Given the description of an element on the screen output the (x, y) to click on. 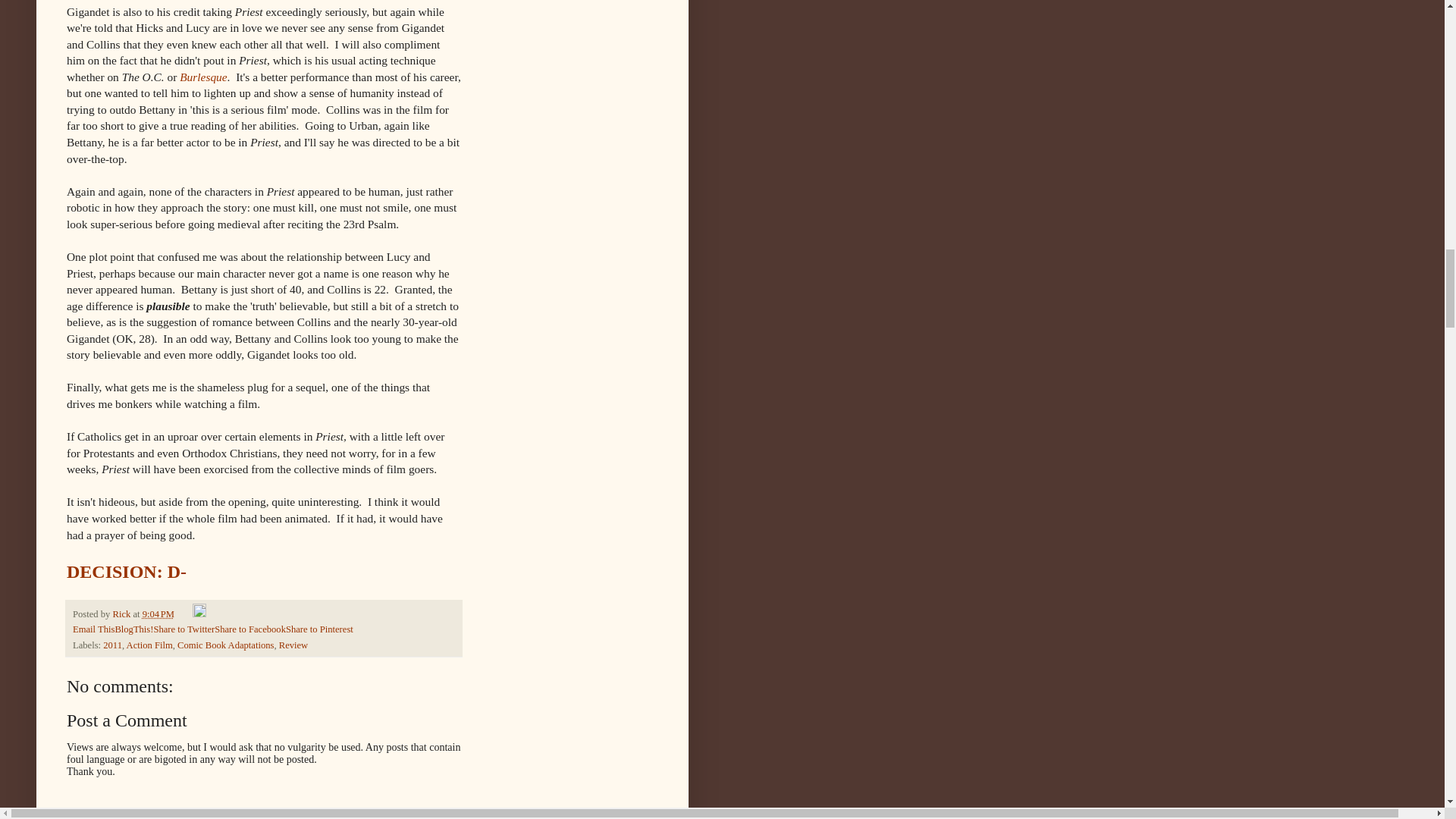
Burlesque (203, 76)
Share to Twitter (183, 629)
Rick (122, 614)
Share to Facebook (249, 629)
Email Post (184, 614)
author profile (122, 614)
Share to Twitter (183, 629)
Comic Book Adaptations (225, 644)
Email This (93, 629)
Share to Facebook (249, 629)
Share to Pinterest (319, 629)
Action Film (149, 644)
DECISION: D- (126, 571)
Edit Post (199, 614)
